Given the description of an element on the screen output the (x, y) to click on. 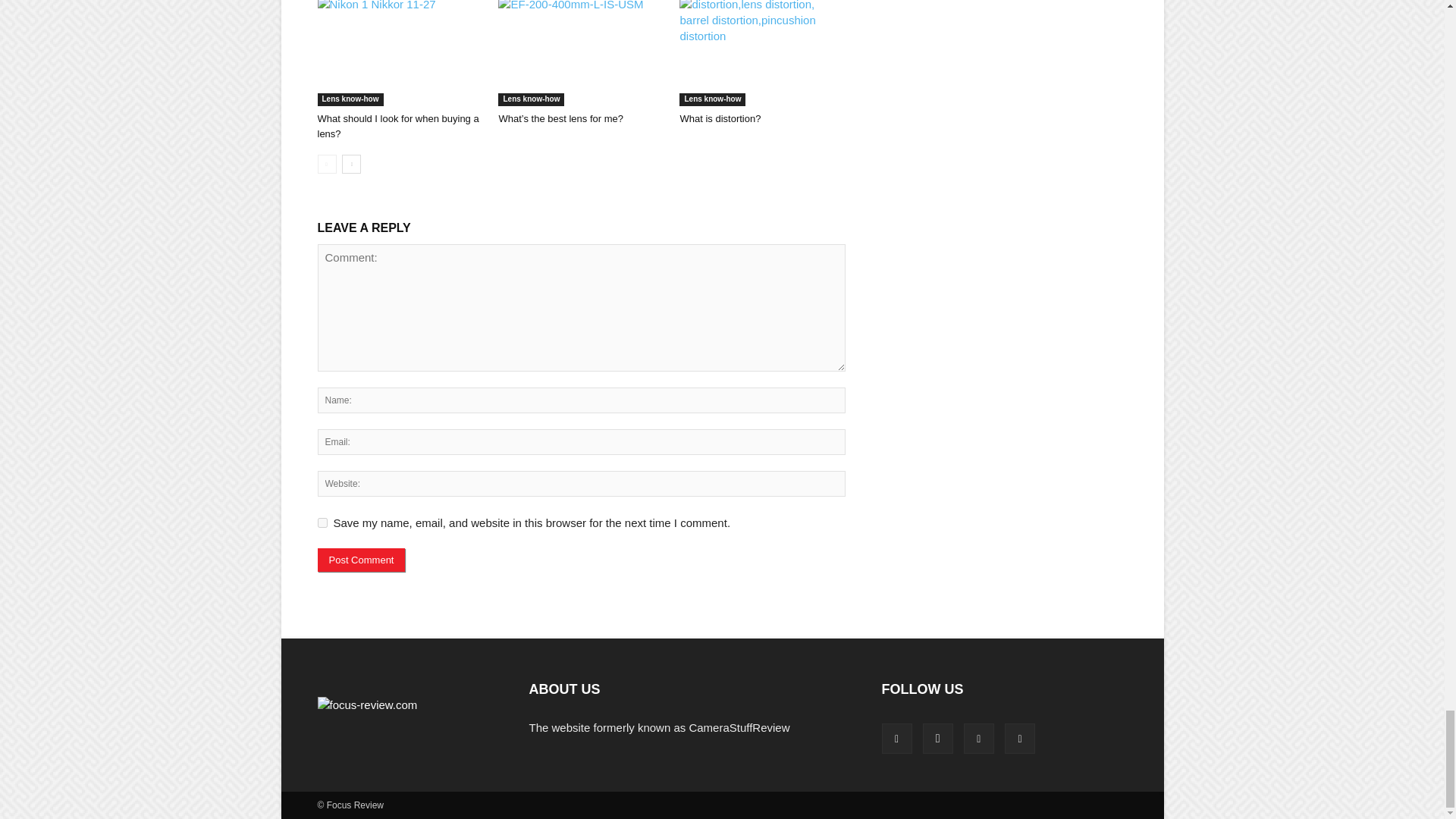
yes (321, 522)
Post Comment (360, 559)
